Given the description of an element on the screen output the (x, y) to click on. 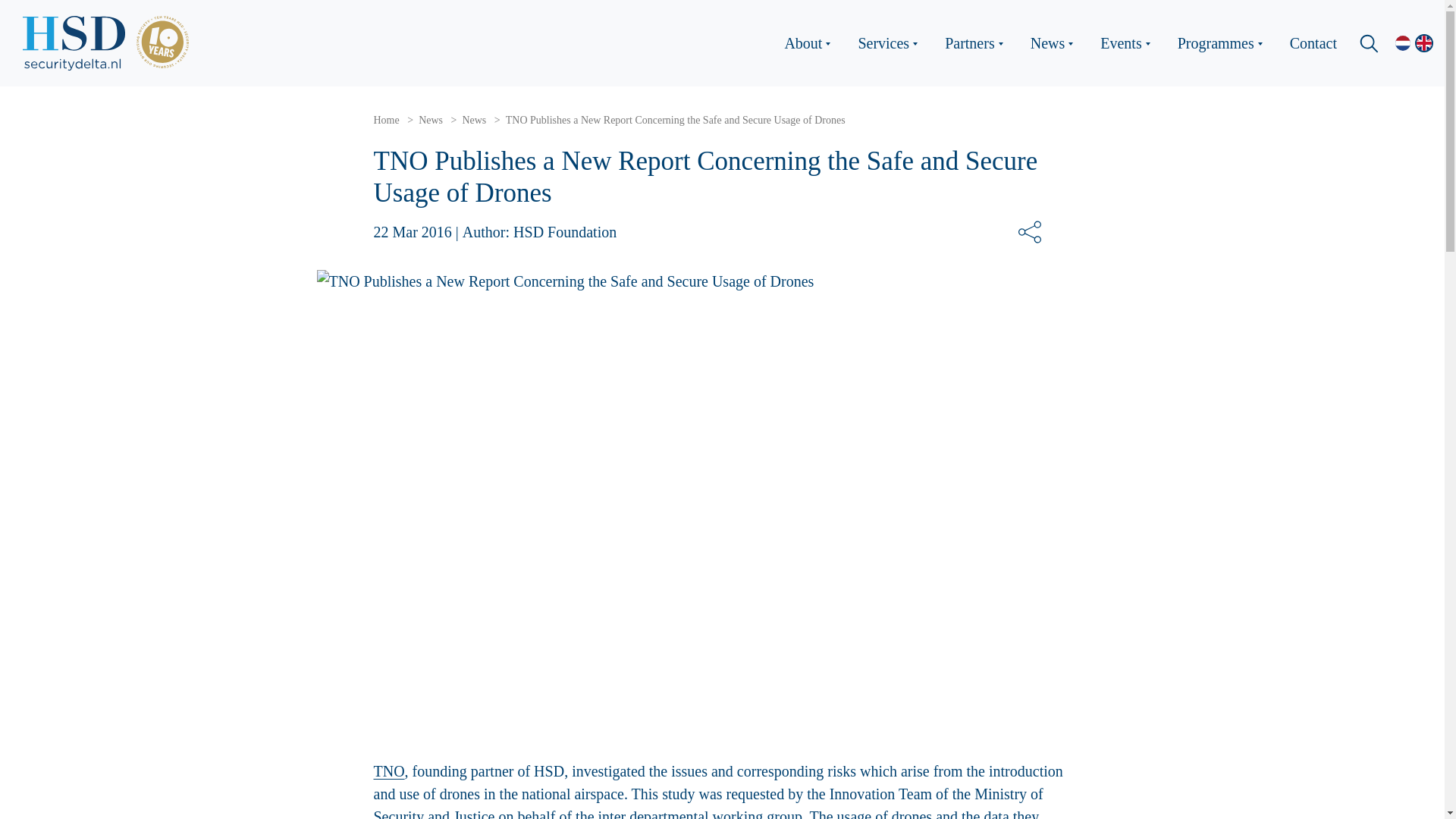
Services (893, 43)
